Given the description of an element on the screen output the (x, y) to click on. 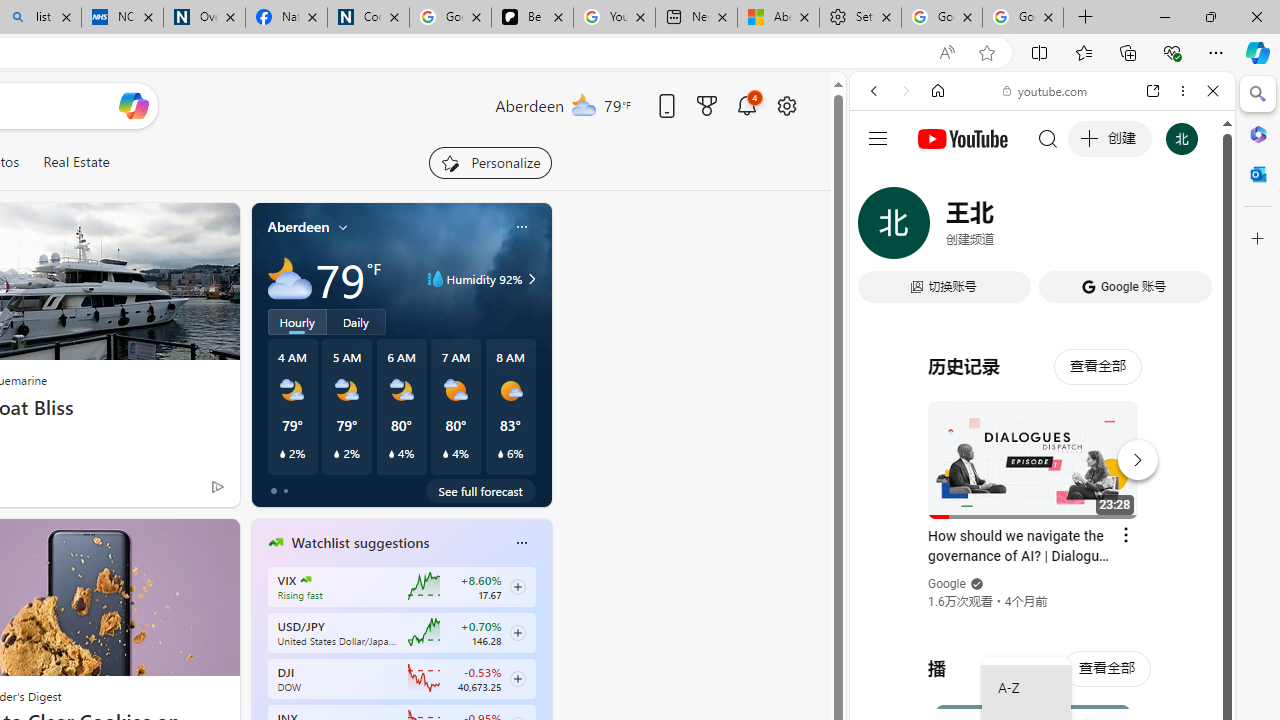
You're following FOX News (175, 490)
See full forecast (480, 490)
